Given the description of an element on the screen output the (x, y) to click on. 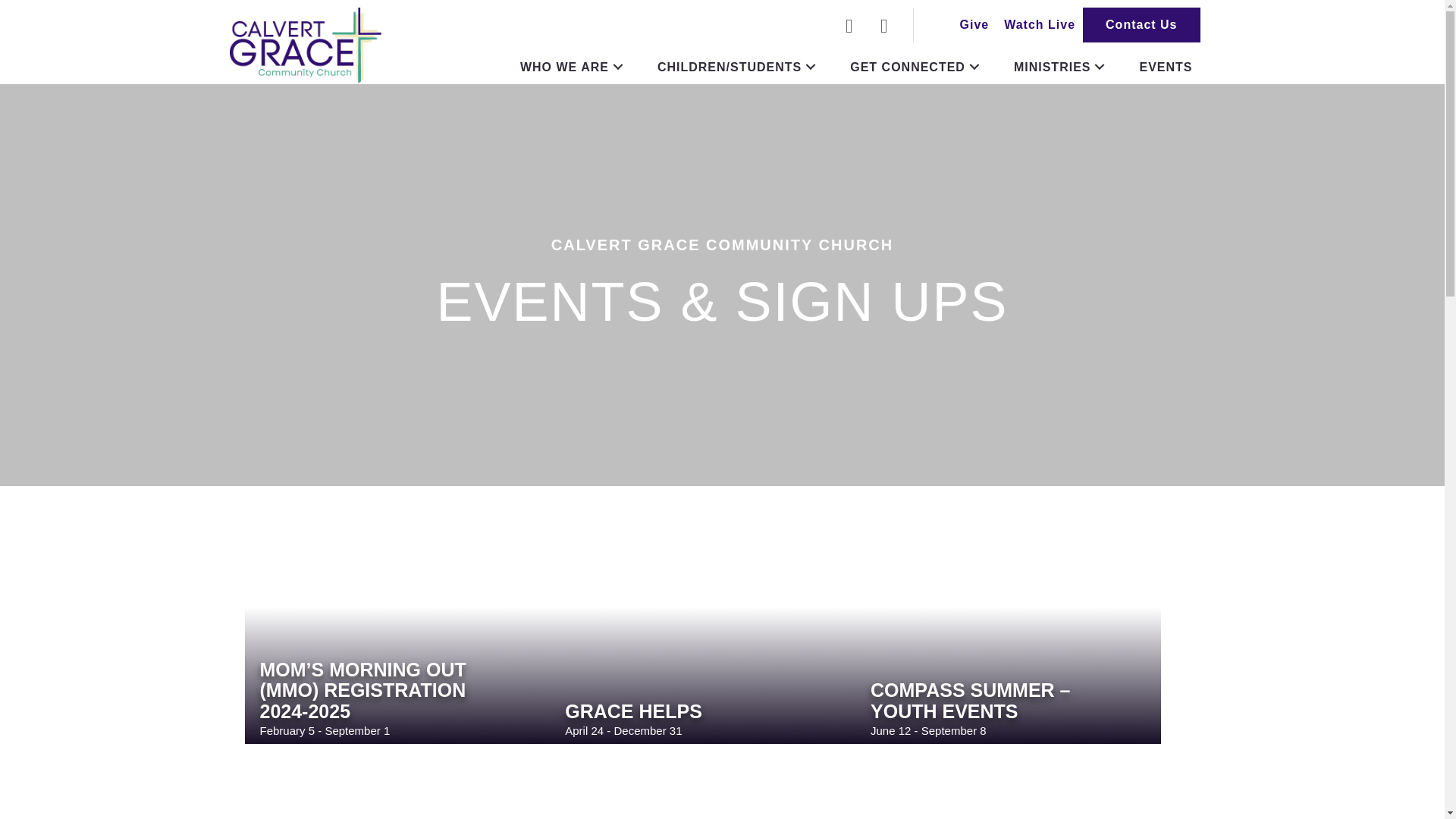
MINISTRIES (1061, 67)
Wednesday Night Summer Bible Study (397, 790)
WHO WE ARE (573, 67)
Grace Helps (632, 711)
EVENTS (1165, 67)
Give (974, 24)
Watch Live (1039, 24)
logo-home-1 (304, 45)
Grace Helps (703, 629)
GET CONNECTED (917, 67)
Instagram (884, 26)
Contact Us (1141, 24)
